Given the description of an element on the screen output the (x, y) to click on. 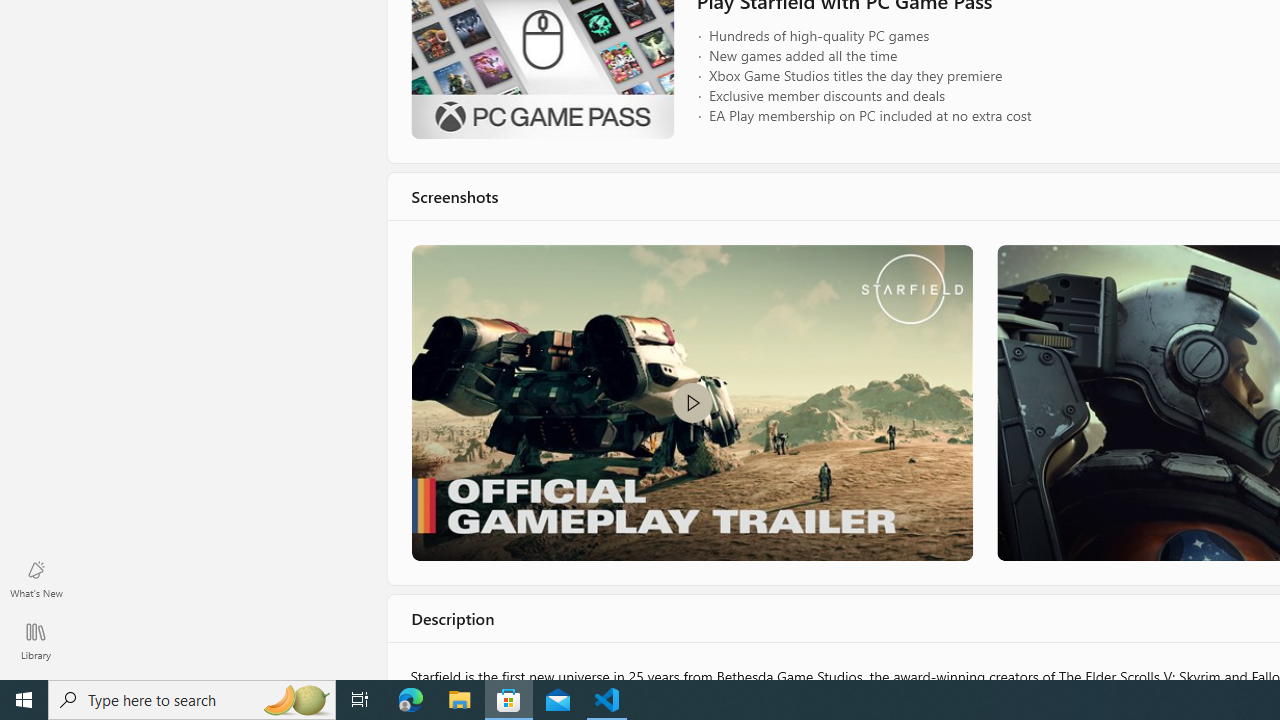
Gameplay Trailer (690, 402)
Library (35, 640)
Class: Image (690, 402)
What's New (35, 578)
